Given the description of an element on the screen output the (x, y) to click on. 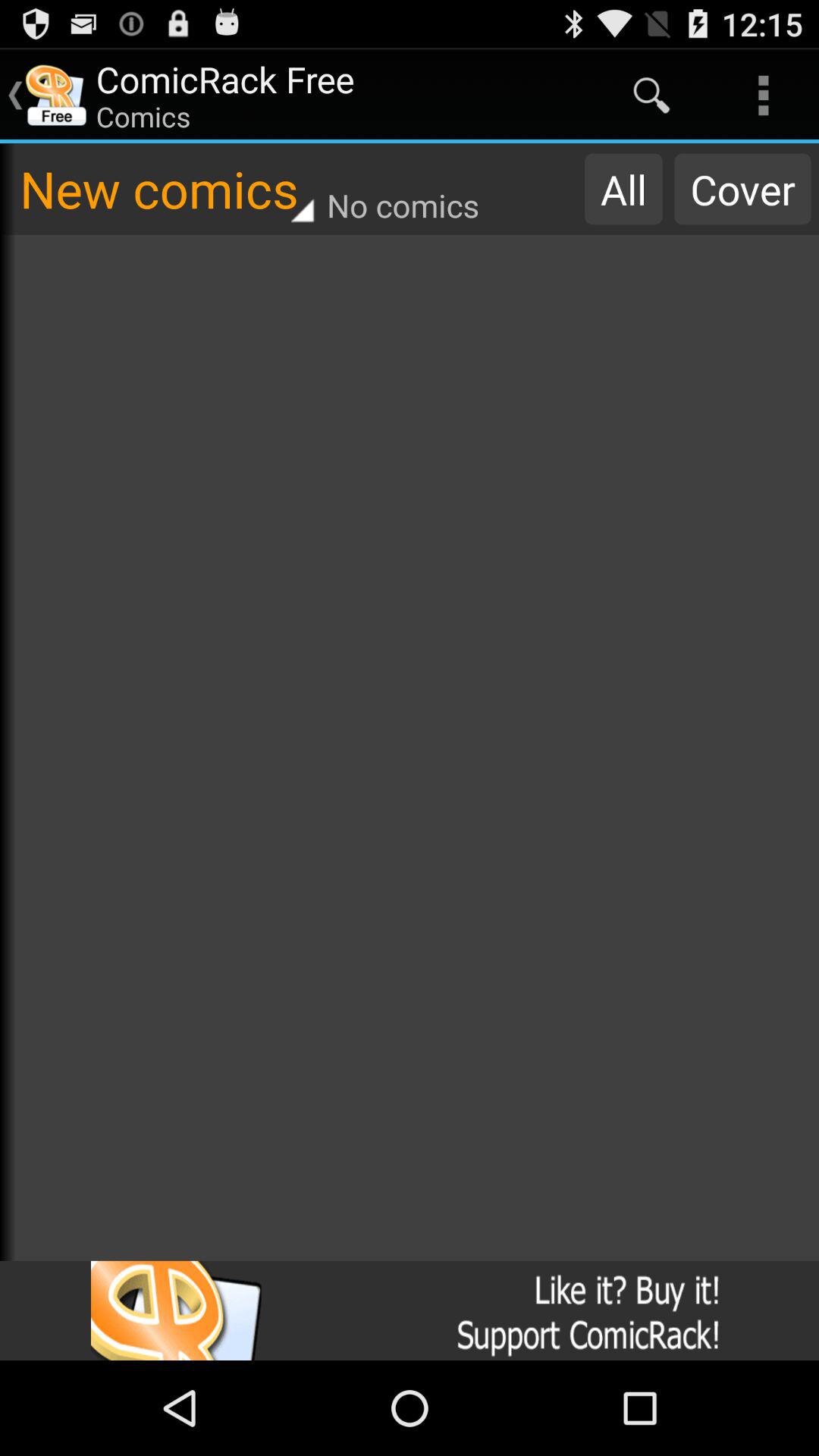
select app next to no comics item (623, 188)
